Given the description of an element on the screen output the (x, y) to click on. 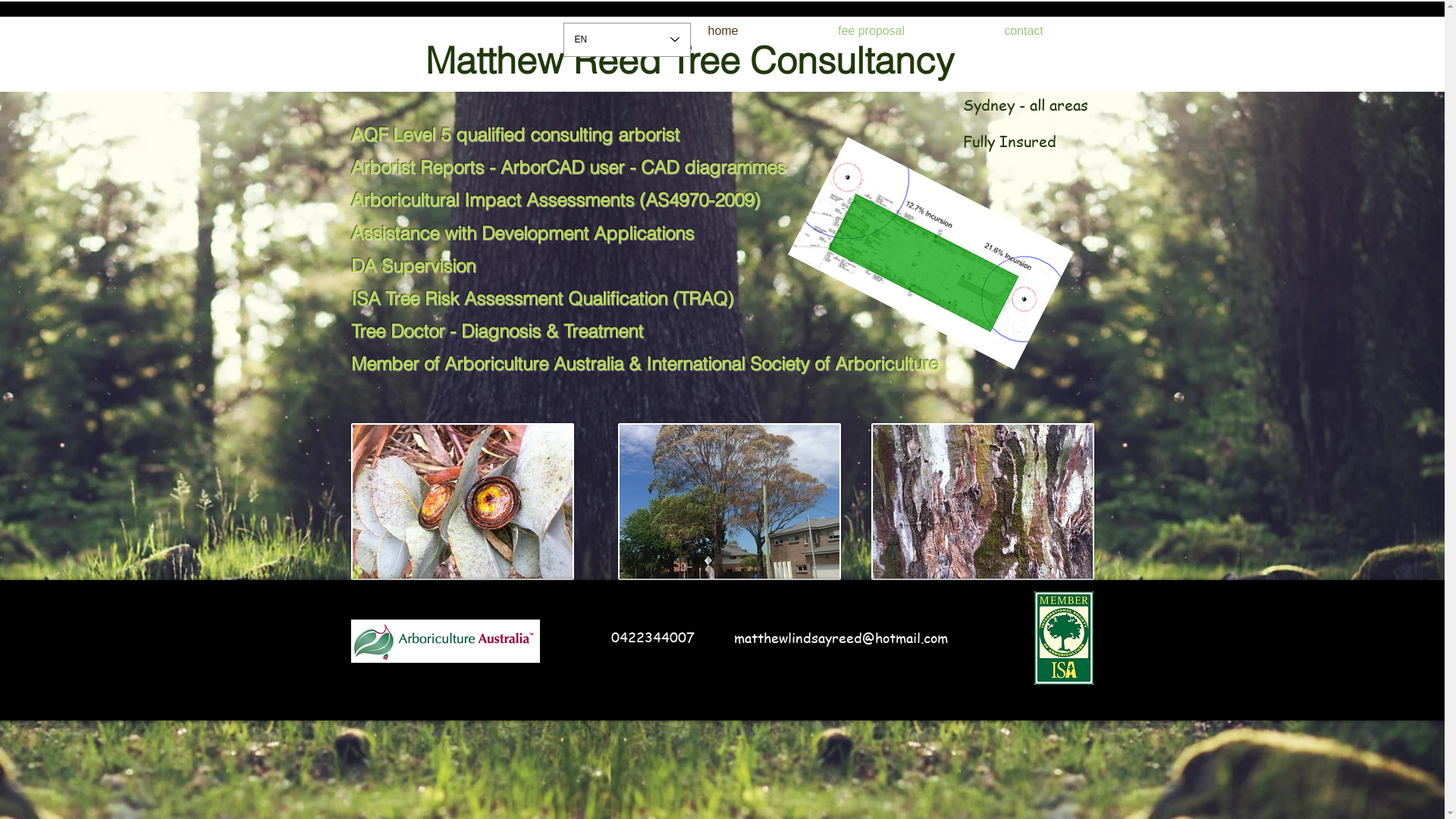
thumb_IMG_6172_1024.jpg Element type: hover (981, 501)
contact Element type: text (1022, 30)
fee proposal Element type: text (871, 30)
thumb_IMG_9163_1024.jpg Element type: hover (728, 501)
http://www.isa-arbor.com Element type: hover (1063, 637)
thumb_IMG_6170_1024.jpg Element type: hover (461, 501)
matthewlindsayreed@hotmail.com Element type: text (840, 636)
home Element type: text (723, 30)
http___www.arboriculture.org.au_default.aspx Element type: hover (444, 640)
